Given the description of an element on the screen output the (x, y) to click on. 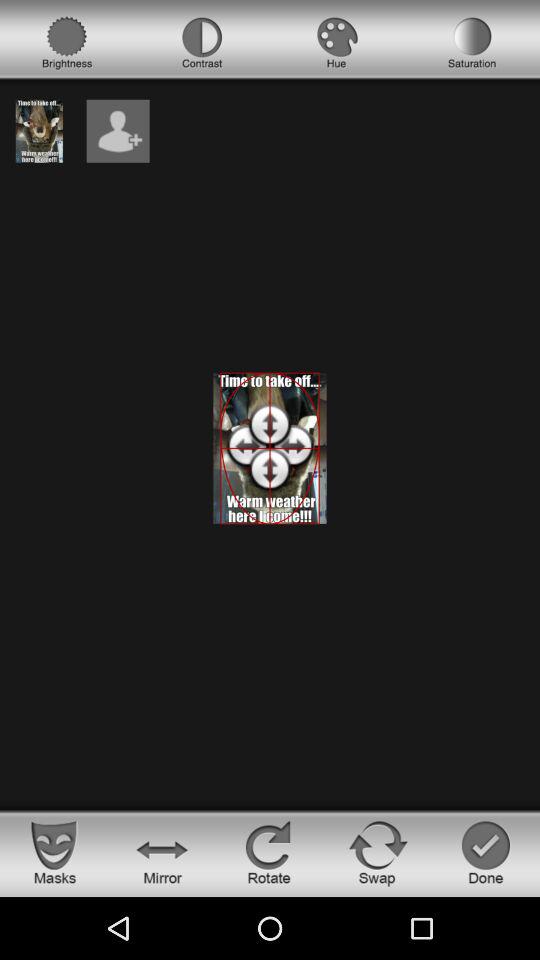
change degree of saturation (472, 43)
